Given the description of an element on the screen output the (x, y) to click on. 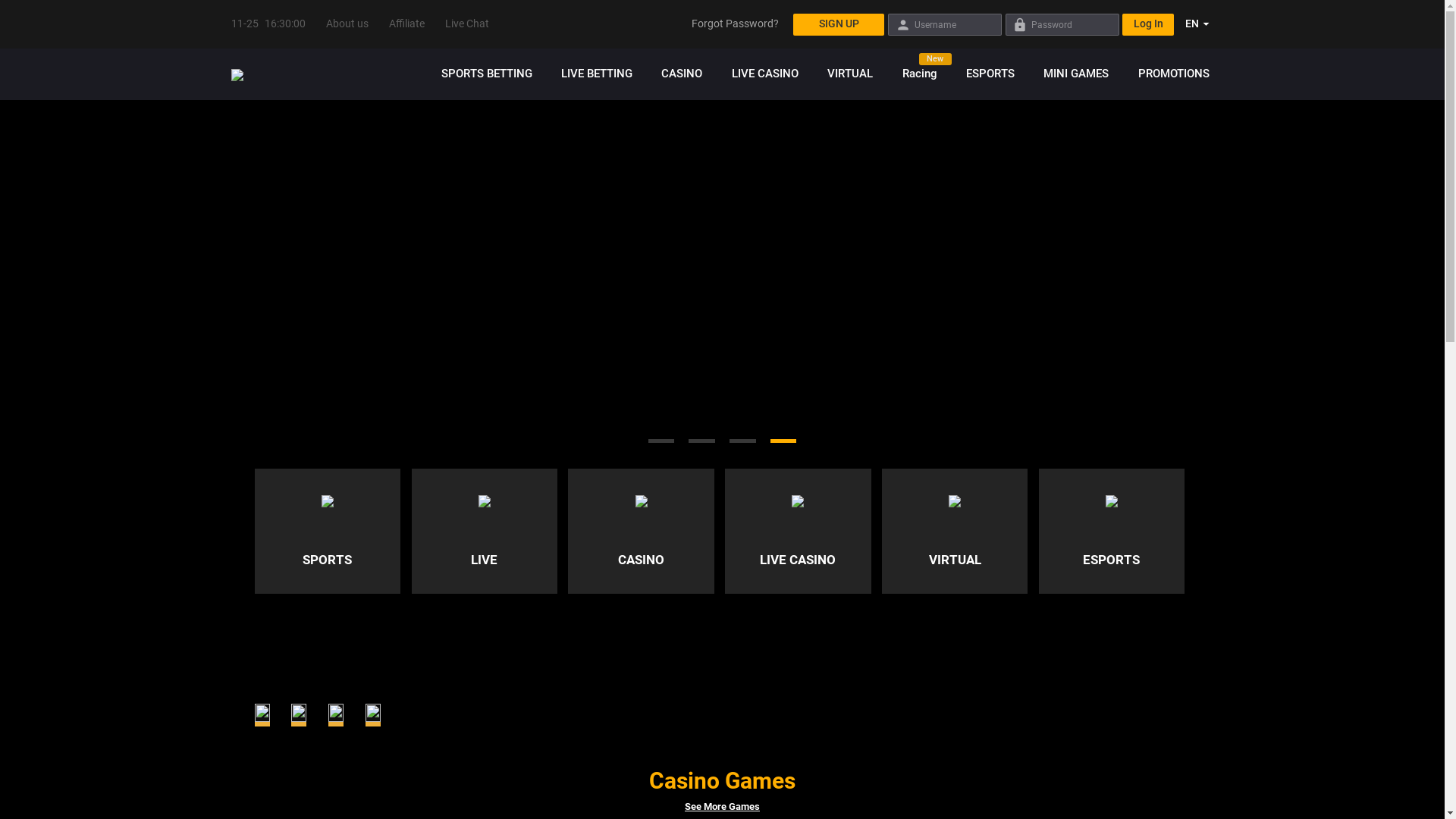
Affiliate Element type: text (406, 24)
MINI GAMES Element type: text (1076, 73)
LIVE CASINO Element type: text (764, 73)
LIVE BETTING Element type: text (596, 73)
Log In Element type: text (1147, 24)
SIGN UP Element type: text (838, 24)
CASINO Element type: text (681, 73)
ESPORTS Element type: text (990, 73)
Racing Element type: text (918, 73)
About us Element type: text (347, 24)
VIRTUAL Element type: text (849, 73)
See More Games Element type: text (721, 806)
PROMOTIONS Element type: text (1168, 73)
Live Chat Element type: text (467, 24)
SPORTS BETTING Element type: text (486, 73)
